Given the description of an element on the screen output the (x, y) to click on. 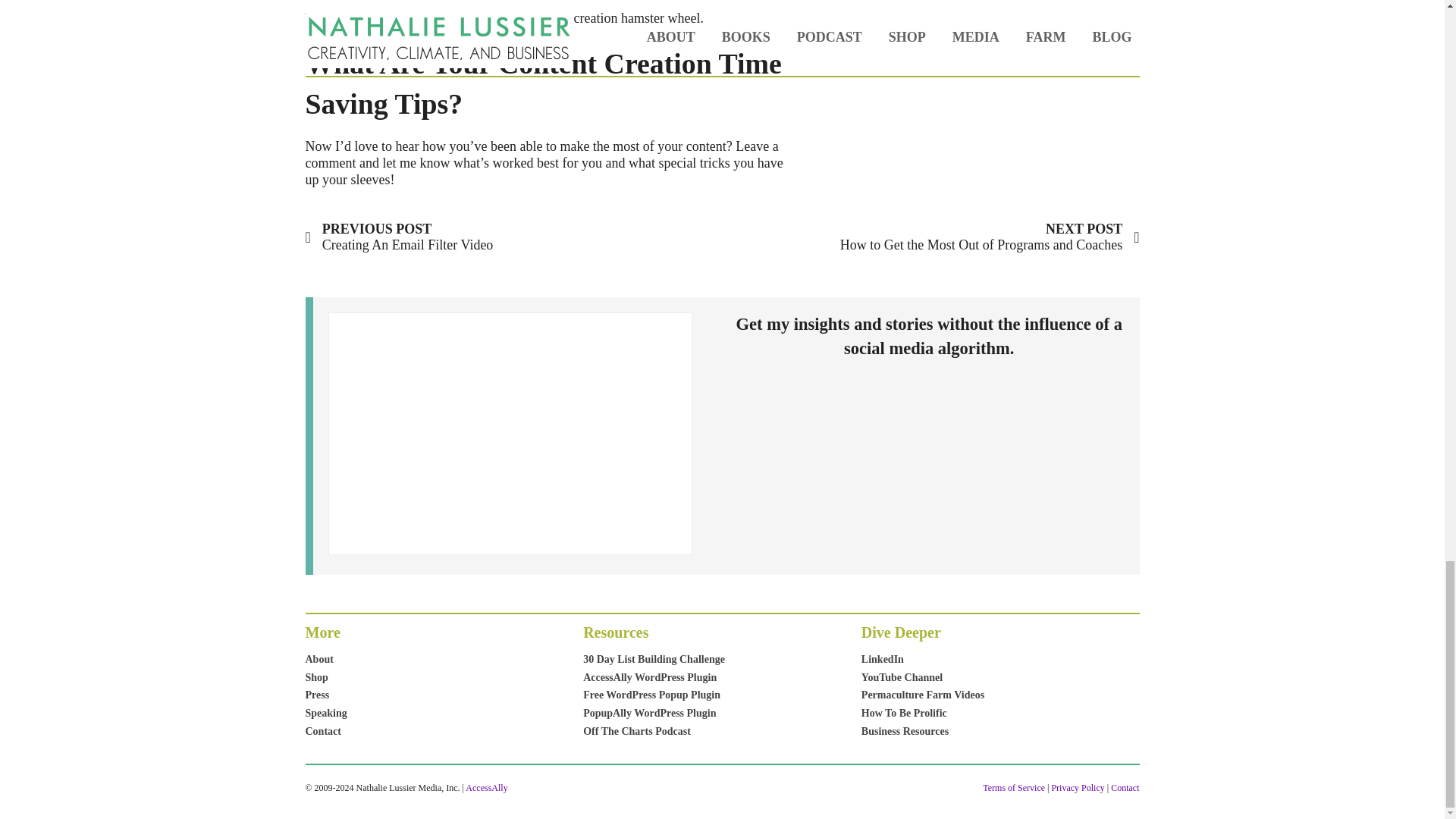
Press (325, 695)
PopupAlly WordPress Plugin (654, 713)
About (325, 659)
30 Day List Building Challenge (654, 659)
Off The Charts Podcast (654, 731)
LinkedIn (922, 659)
Contact (325, 731)
Speaking (325, 713)
AccessAlly WordPress Plugin (654, 678)
Shop (325, 678)
Free WordPress Popup Plugin (398, 237)
